Given the description of an element on the screen output the (x, y) to click on. 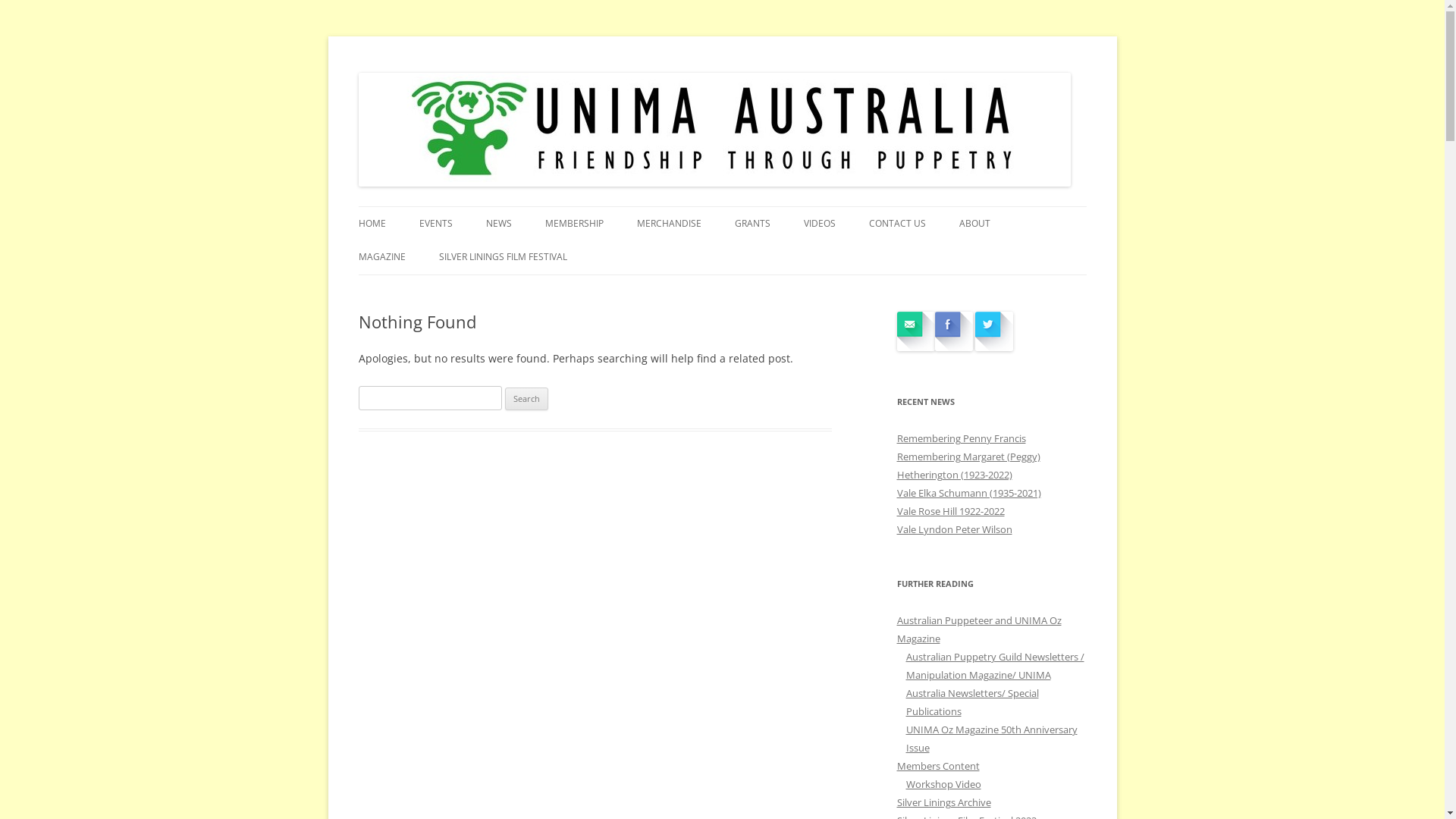
Silver Linings Archive Element type: text (943, 802)
SILVER LININGS FILM FESTIVAL Element type: text (502, 256)
VIDEOS Element type: text (819, 223)
UNIMA AUSTRALIA Element type: text (449, 206)
Workshop Video Element type: text (942, 783)
Search Element type: text (526, 398)
Skip to content Element type: text (721, 206)
GRANTS Element type: text (751, 223)
MEMBERSHIP Element type: text (573, 223)
MAGAZINE Element type: text (380, 256)
MERCHANDISE Element type: text (669, 223)
NEWS Element type: text (498, 223)
Remembering Margaret (Peggy) Hetherington (1923-2022) Element type: text (967, 465)
Vale Elka Schumann (1935-2021) Element type: text (968, 492)
Vale Lyndon Peter Wilson Element type: text (953, 529)
HOME Element type: text (371, 223)
UNIMA OZ MAGAZINE 50TH ANNIVERSARY ISSUE Element type: text (433, 298)
UNIMA Oz Magazine 50th Anniversary Issue Element type: text (990, 738)
Australian Puppeteer and UNIMA Oz Magazine Element type: text (978, 629)
ABOUT Element type: text (973, 223)
EVENTS Element type: text (434, 223)
Contact Us Element type: hover (915, 347)
Vale Rose Hill 1922-2022 Element type: text (950, 510)
UNIMAOz on twitter Element type: hover (994, 347)
UNIMA Australia on Facebook Element type: hover (953, 347)
Remembering Penny Francis Element type: text (960, 438)
CONTACT US Element type: text (897, 223)
Members Content Element type: text (937, 765)
